Given the description of an element on the screen output the (x, y) to click on. 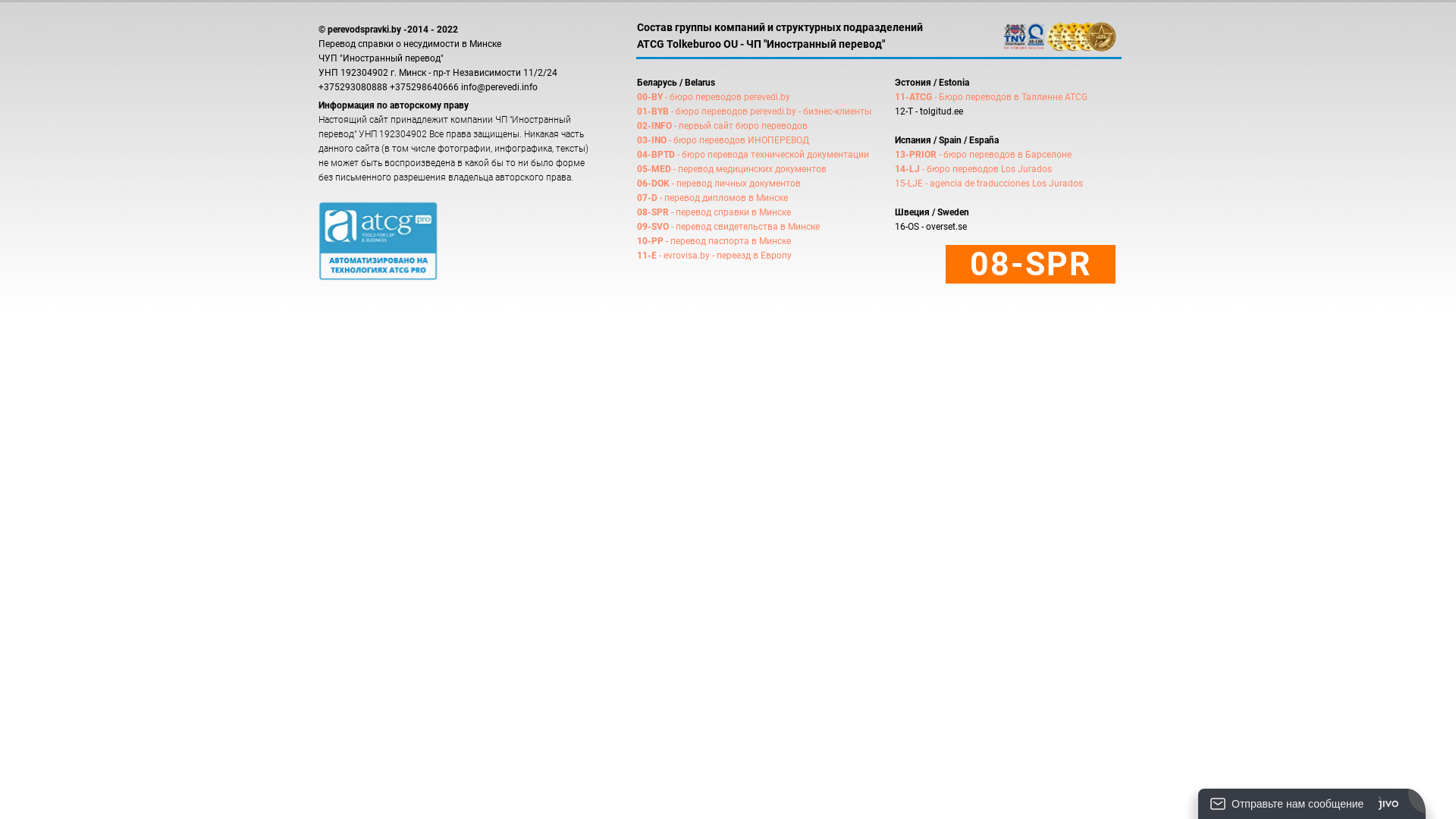
06-DOK Element type: text (653, 183)
13-PRIOR Element type: text (915, 154)
00-BY Element type: text (649, 96)
02-INFO Element type: text (654, 125)
15-LJE - agencia de traducciones Los Jurados Element type: text (988, 183)
14-LJ Element type: text (906, 168)
04-BPTD Element type: text (655, 154)
01-BYB Element type: text (652, 111)
10-PP Element type: text (650, 240)
08-SPR Element type: text (652, 212)
05-MED Element type: text (654, 168)
07-D Element type: text (647, 197)
11-ATCG Element type: text (912, 96)
03-INO Element type: text (651, 139)
09-SVO Element type: text (652, 226)
